Given the description of an element on the screen output the (x, y) to click on. 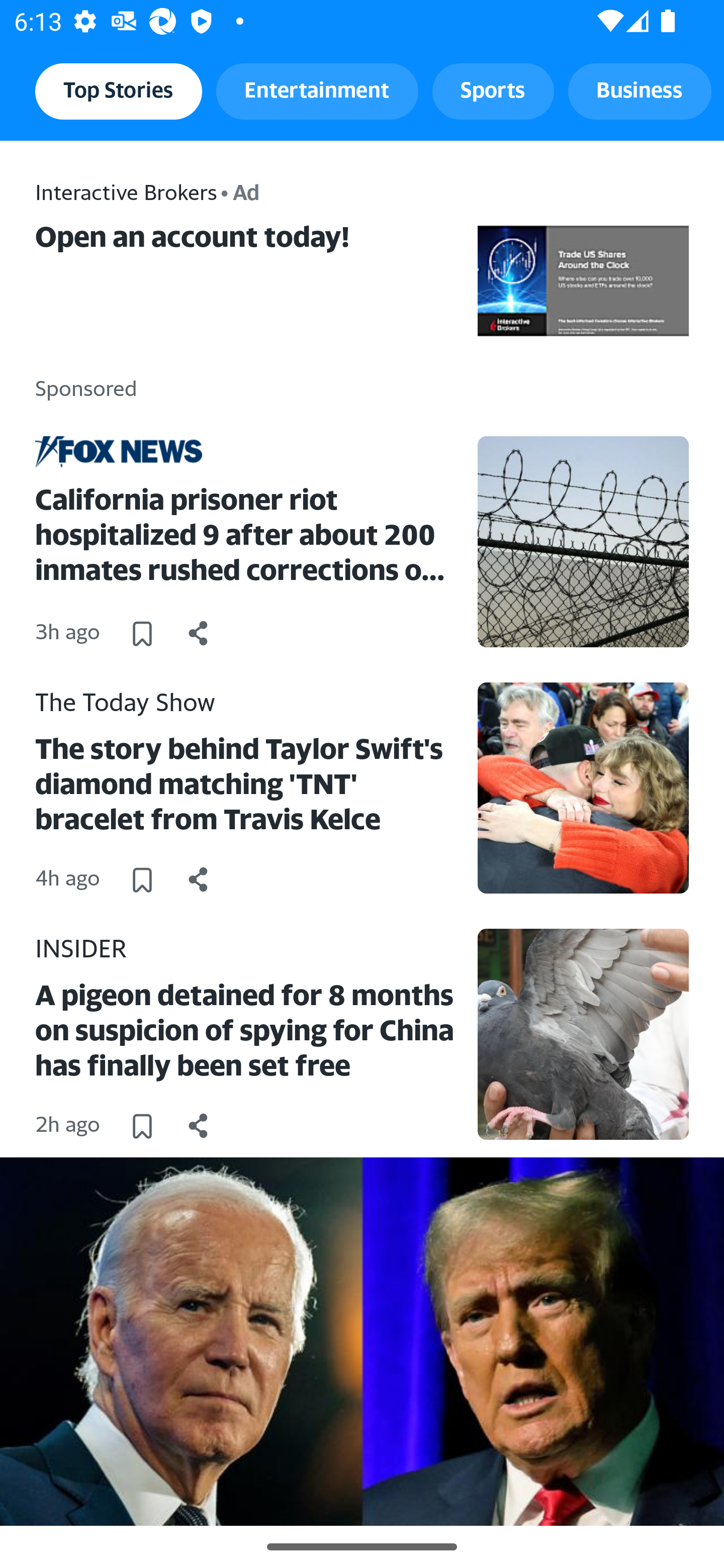
Entertainment (317, 90)
Sports (492, 90)
Business (639, 90)
• Ad (240, 190)
Save this article (142, 633)
Share this news article (198, 633)
Save this article (142, 879)
Share this news article (198, 879)
Save this article (142, 1125)
Share this news article (198, 1125)
